Given the description of an element on the screen output the (x, y) to click on. 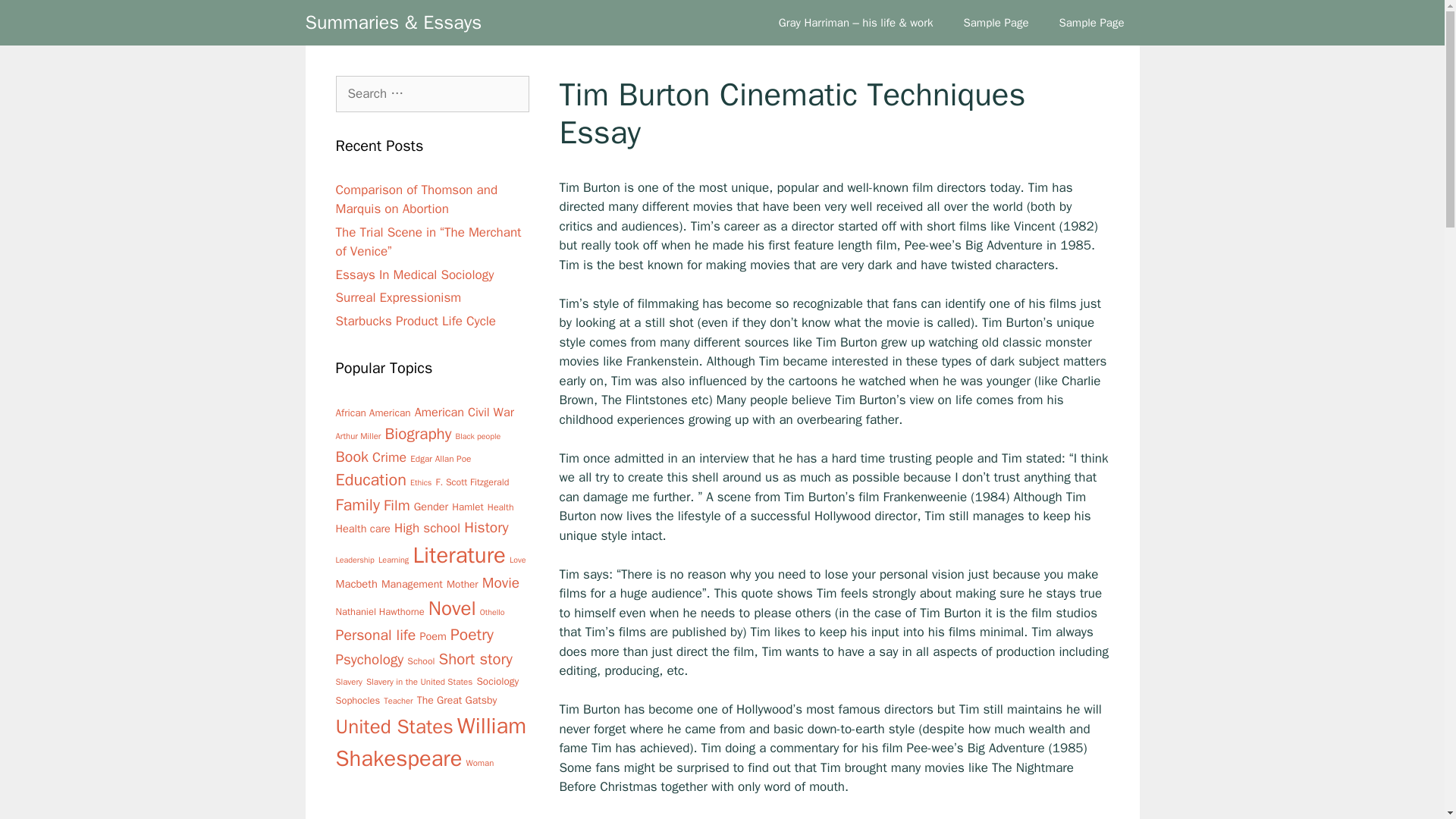
Search for: (431, 94)
Black people (477, 435)
Search (35, 18)
Arthur Miller (357, 435)
Sample Page (1090, 22)
Comparison of Thomson and Marquis on Abortion (415, 199)
Starbucks Product Life Cycle (415, 320)
Sample Page (995, 22)
Book (351, 456)
African American (372, 412)
Essays In Medical Sociology (413, 274)
Biography (418, 433)
Surreal Expressionism (397, 297)
American Civil War (463, 412)
